Given the description of an element on the screen output the (x, y) to click on. 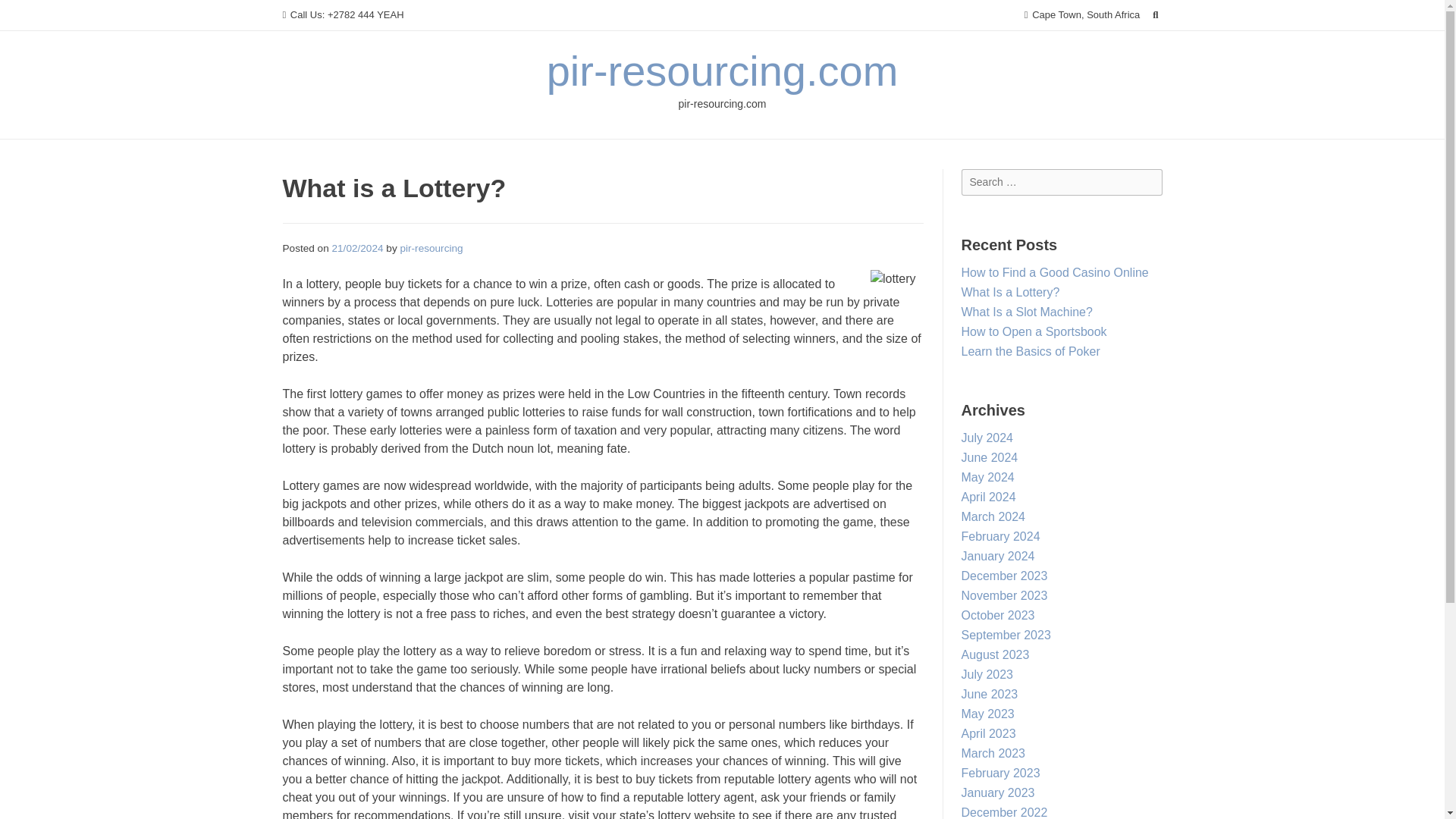
What Is a Lottery? (1009, 291)
August 2023 (994, 654)
How to Find a Good Casino Online (1054, 272)
April 2023 (988, 733)
September 2023 (1005, 634)
March 2024 (993, 516)
December 2022 (1004, 812)
June 2023 (988, 694)
January 2023 (997, 792)
April 2024 (988, 496)
November 2023 (1004, 594)
October 2023 (997, 615)
March 2023 (993, 753)
How to Open a Sportsbook (1033, 331)
February 2023 (1000, 772)
